Given the description of an element on the screen output the (x, y) to click on. 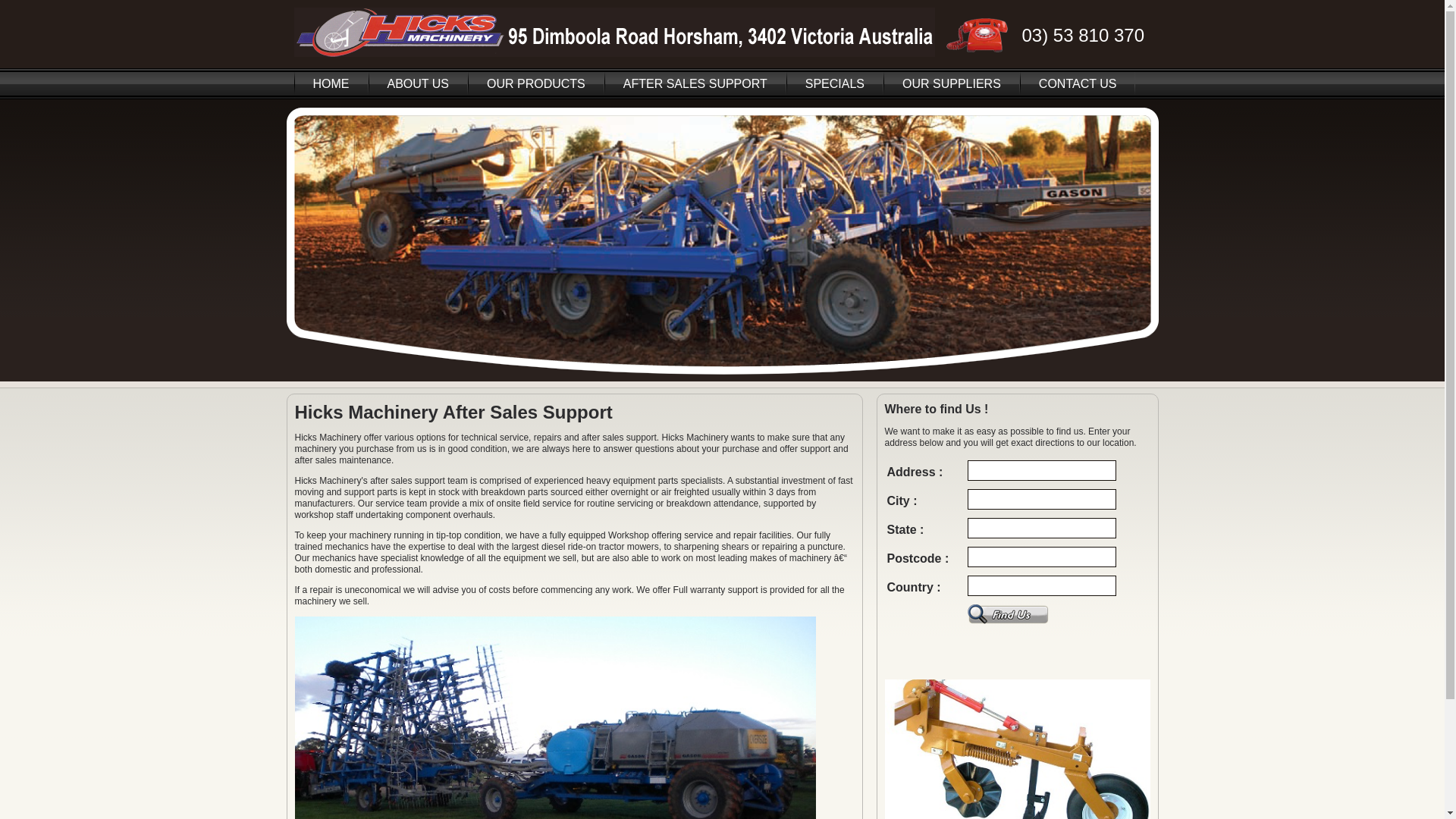
OUR SUPPLIERS Element type: text (951, 83)
HOME Element type: text (331, 83)
ABOUT US Element type: text (418, 83)
OUR PRODUCTS Element type: text (535, 83)
SPECIALS Element type: text (834, 83)
AFTER SALES SUPPORT Element type: text (695, 83)
CONTACT US Element type: text (1077, 83)
